Given the description of an element on the screen output the (x, y) to click on. 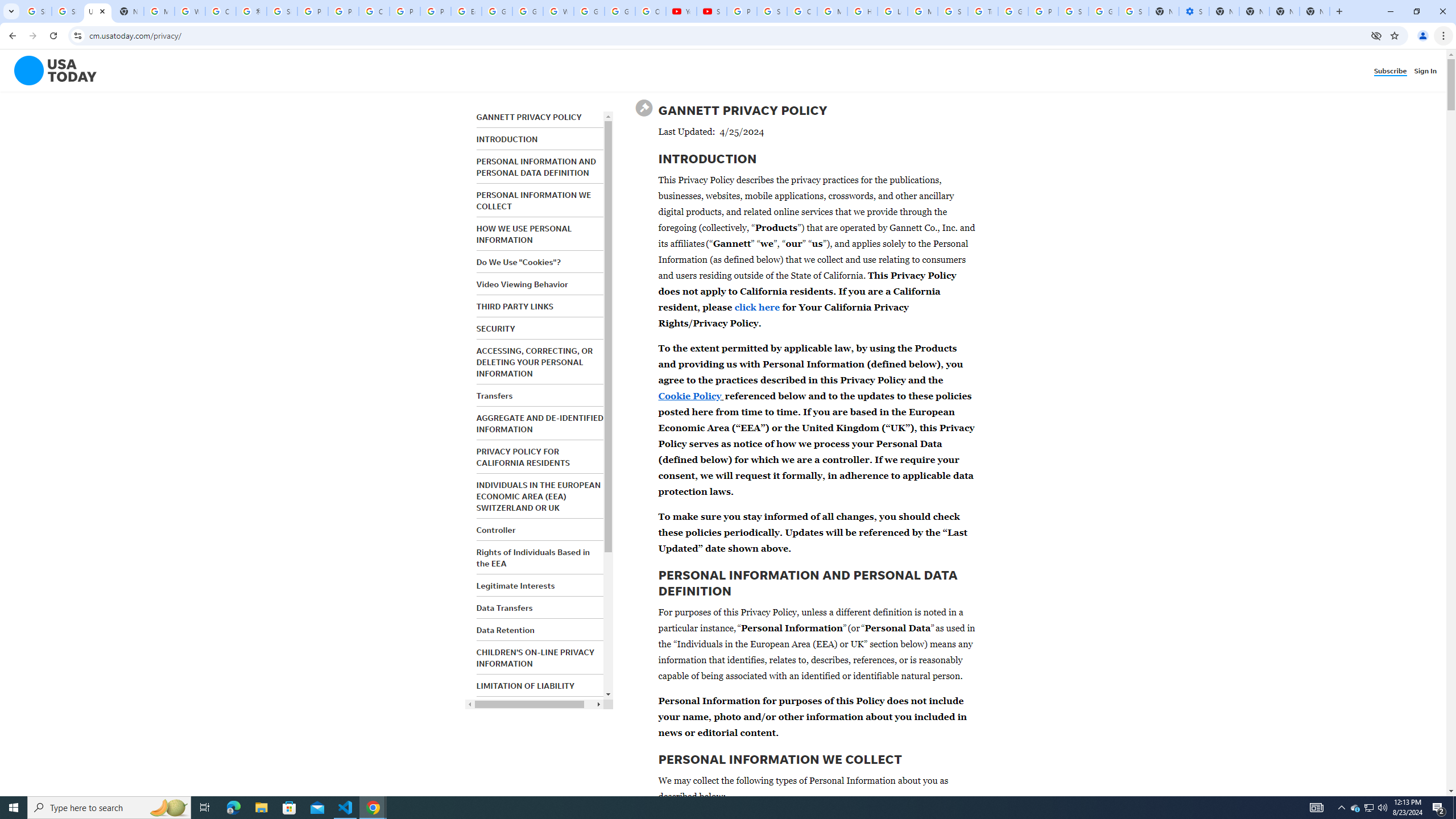
PRIVACY POLICY FOR CALIFORNIA RESIDENTS (522, 457)
AGGREGATE AND DE-IDENTIFIED INFORMATION (540, 423)
click here (756, 306)
Sign in - Google Accounts (1133, 11)
Create your Google Account (220, 11)
LIMITATION OF LIABILITY (525, 685)
Data Retention (505, 629)
PERSONAL INFORMATION AND PERSONAL DATA DEFINITION (536, 166)
Subscriptions - YouTube (711, 11)
Google Cybersecurity Innovations - Google Safety Center (1103, 11)
